Given the description of an element on the screen output the (x, y) to click on. 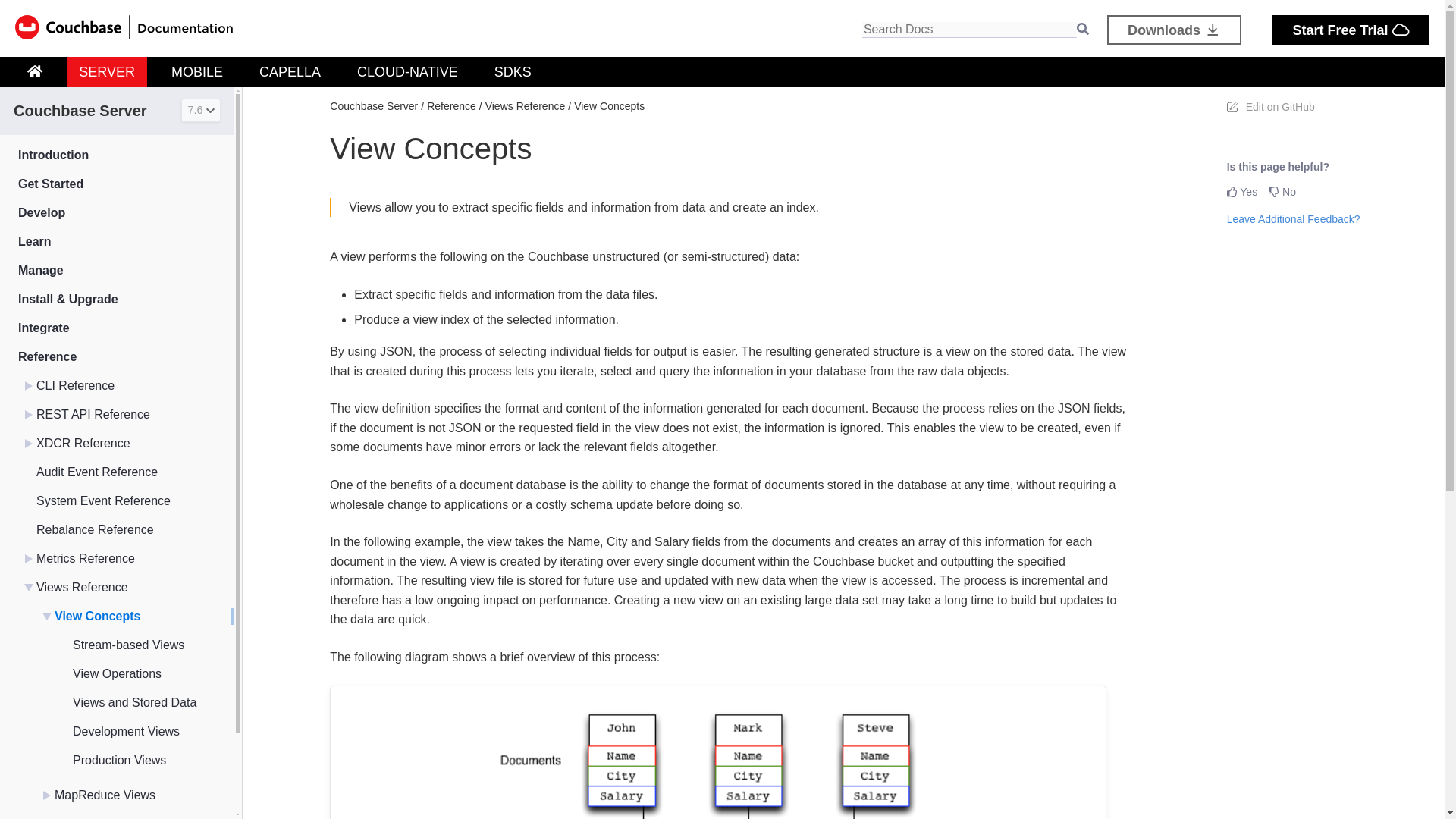
CAPELLA (289, 71)
MOBILE (196, 71)
Edit Page (1270, 106)
Start Free Trial (1350, 30)
SDKS (513, 71)
CLOUD-NATIVE (407, 71)
Downloads (1173, 30)
SERVER (106, 71)
